Given the description of an element on the screen output the (x, y) to click on. 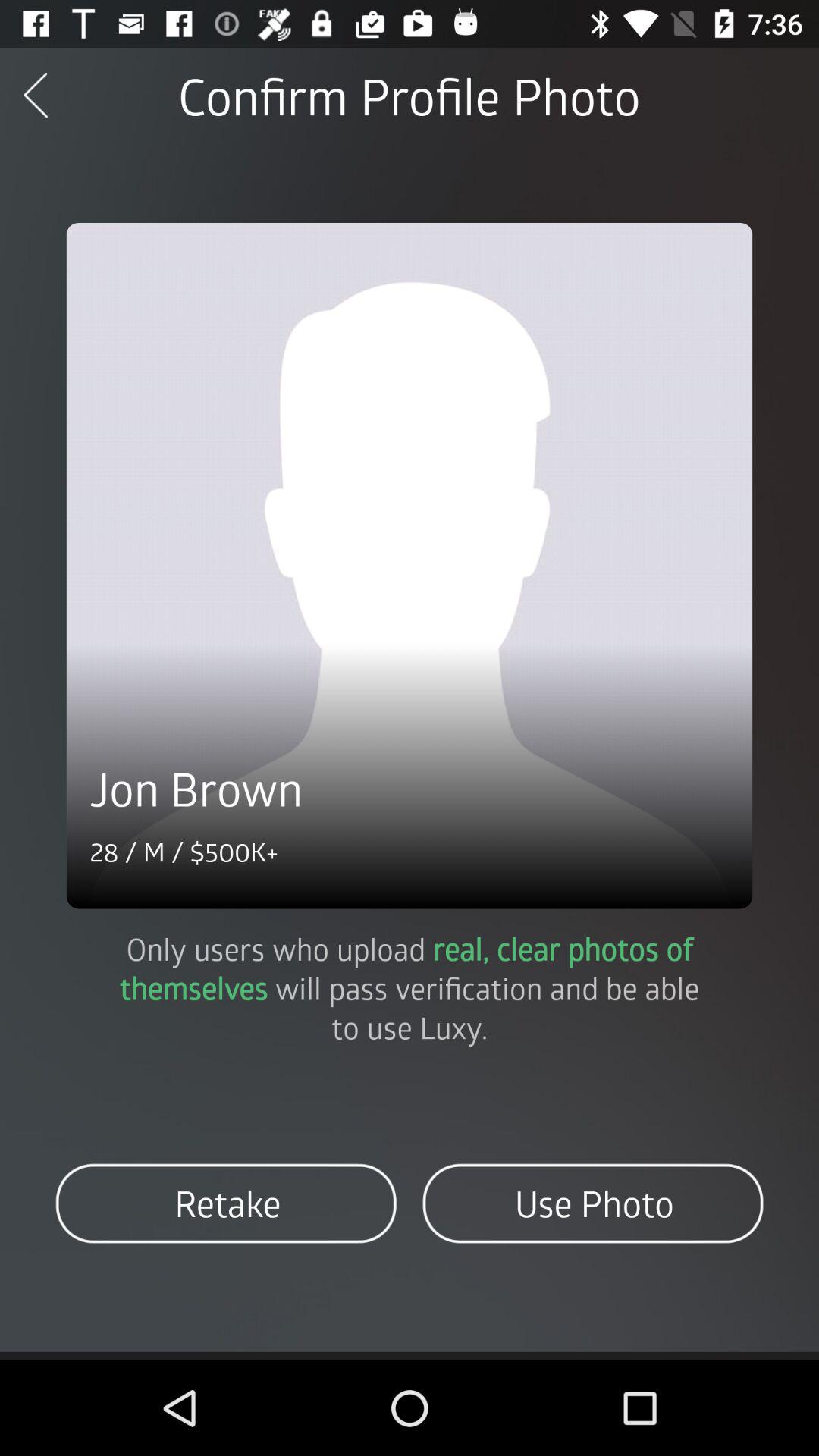
profile picture field (409, 565)
